Given the description of an element on the screen output the (x, y) to click on. 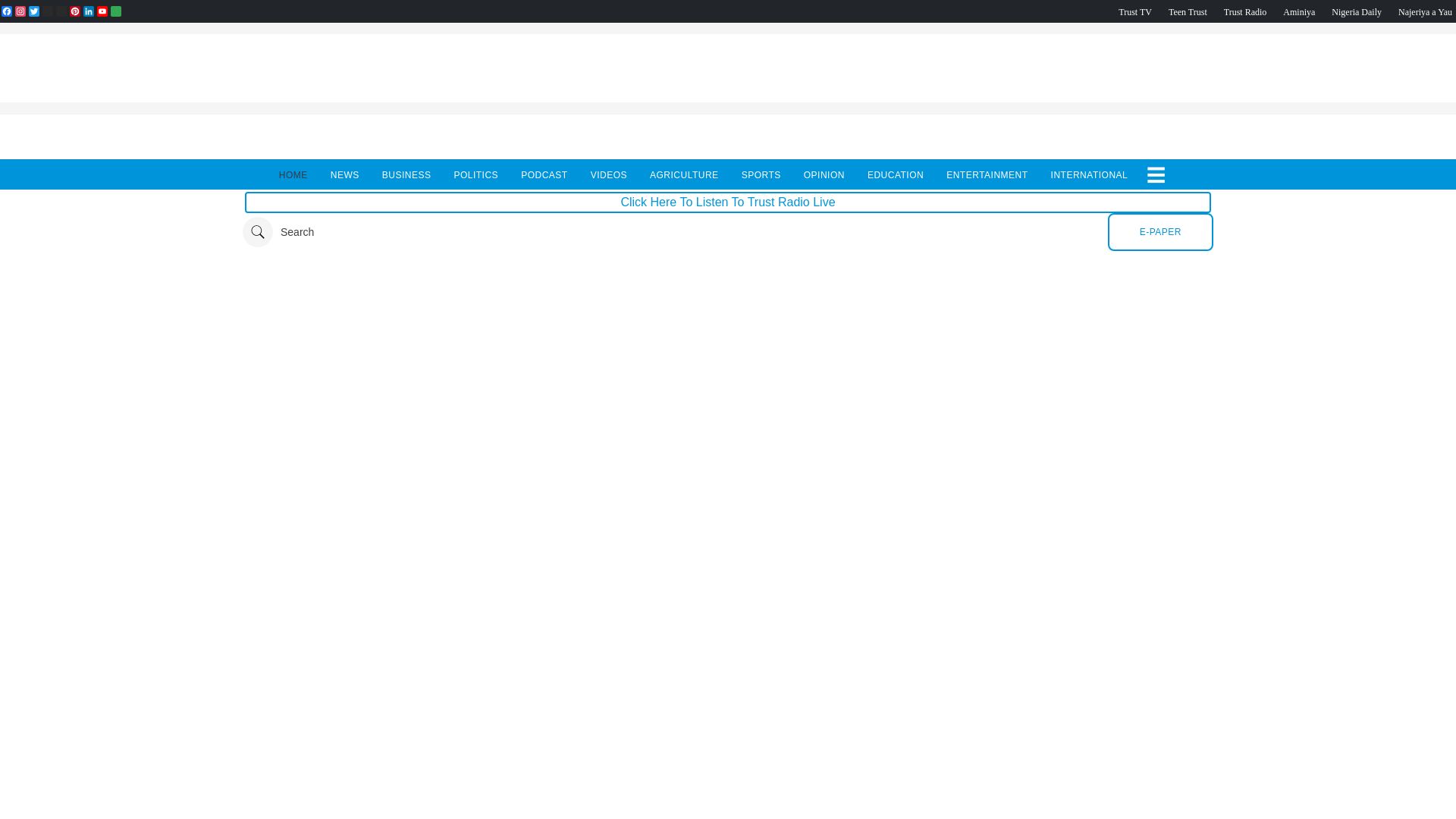
Podcast (1356, 11)
Trust Radio (1245, 11)
Teen Trust (1188, 11)
Trust TV Live (1134, 11)
Teen Trust (1188, 11)
Najeriya a Yau (1424, 11)
Pinterest (74, 10)
Aminiya Online (1298, 11)
Search (278, 232)
LinkedIn (88, 10)
